Given the description of an element on the screen output the (x, y) to click on. 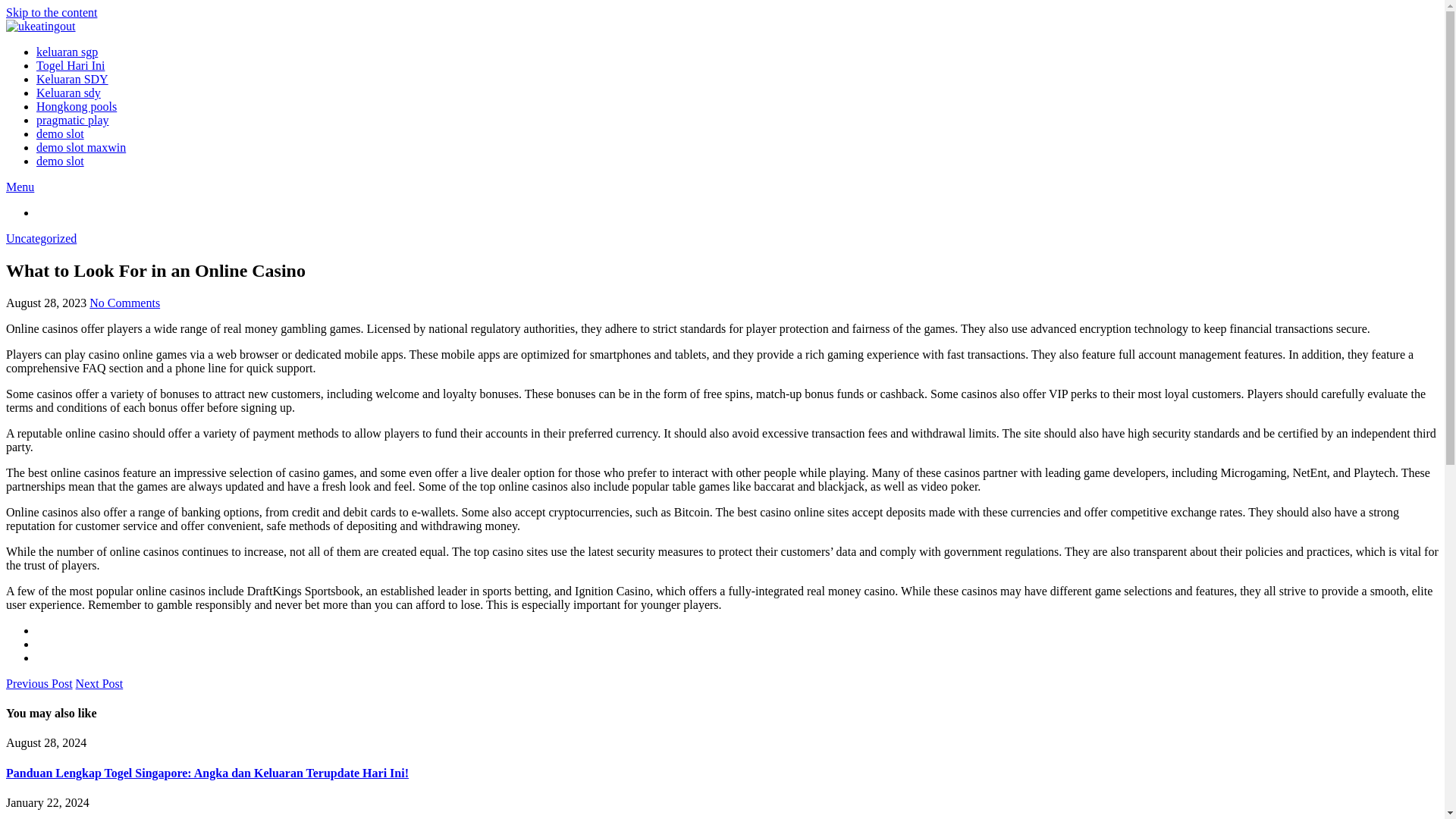
demo slot maxwin (80, 146)
Menu (19, 186)
Previous Post (38, 683)
Togel Hari Ini (70, 65)
pragmatic play (72, 119)
No Comments (124, 302)
Uncategorized (41, 237)
Skip to the content (51, 11)
Keluaran SDY (71, 78)
